Given the description of an element on the screen output the (x, y) to click on. 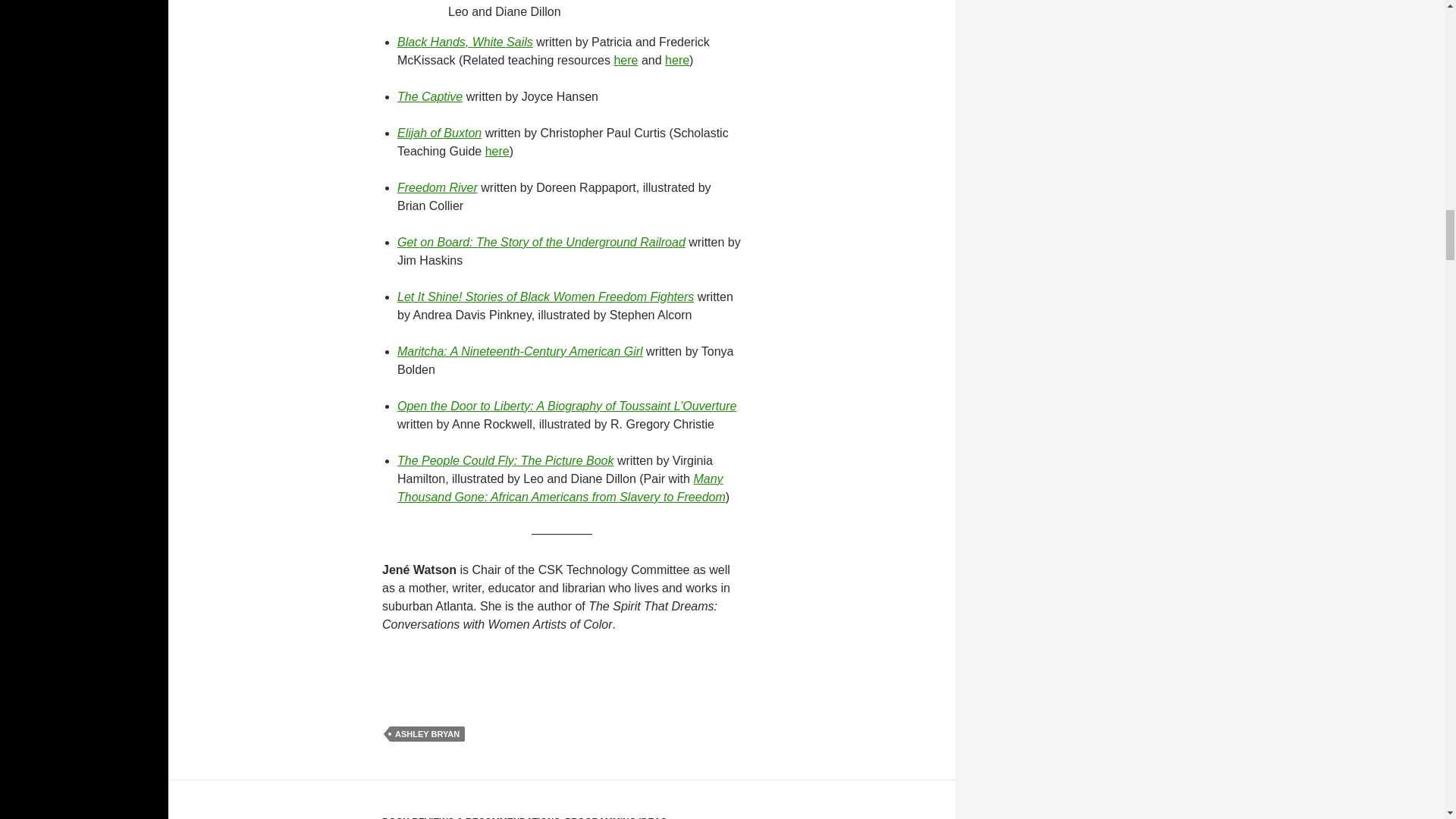
Get on Board: The Story of the Underground Railroad (541, 241)
here (624, 60)
The Captive (430, 96)
Black Hands, White Sails (464, 42)
here (676, 60)
Elijah of Buxton (439, 132)
Let It Shine! Stories of Black Women Freedom Fighters (545, 296)
here (496, 151)
Freedom River (437, 187)
Maritcha: A Nineteenth-Century American Girl (520, 350)
